Given the description of an element on the screen output the (x, y) to click on. 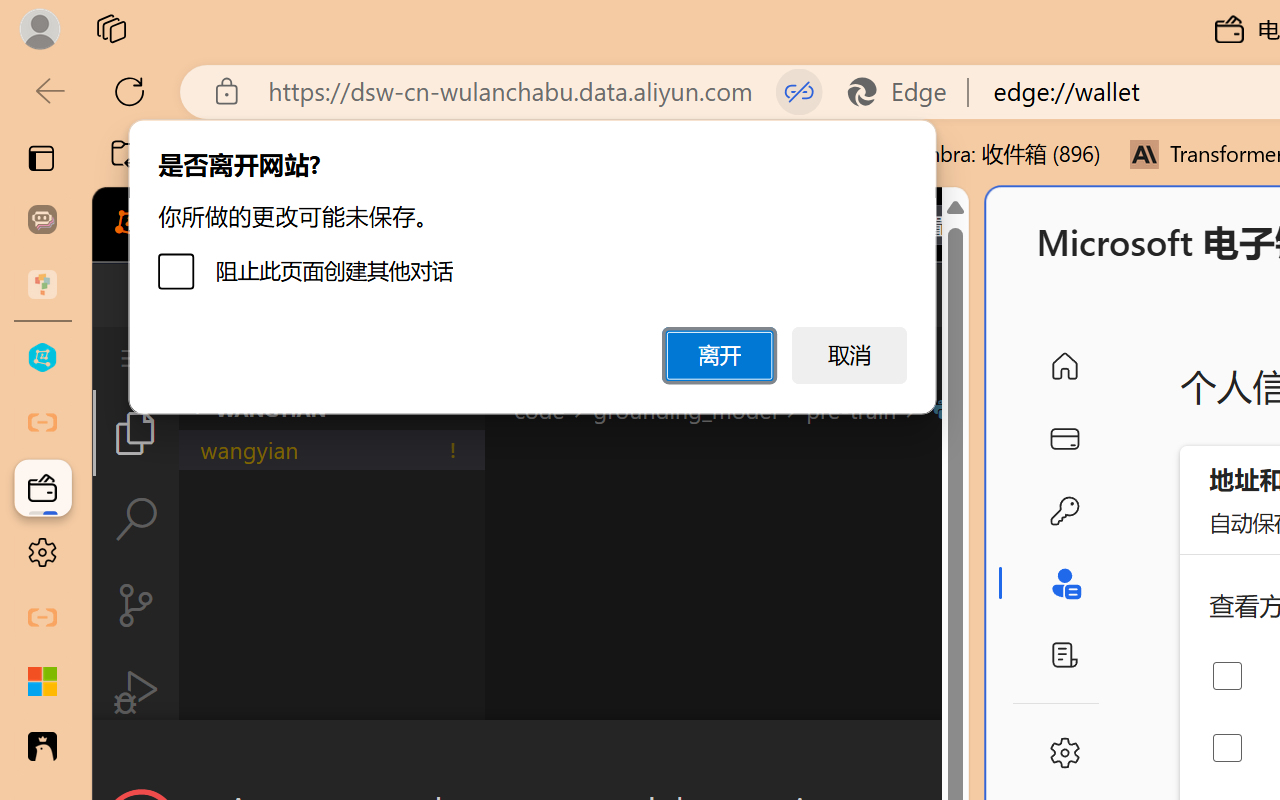
Class: actions-container (529, 756)
Run and Debug (Ctrl+Shift+D) (135, 692)
Close Dialog (959, 756)
Adjust indents and spacing - Microsoft Support (42, 681)
